Given the description of an element on the screen output the (x, y) to click on. 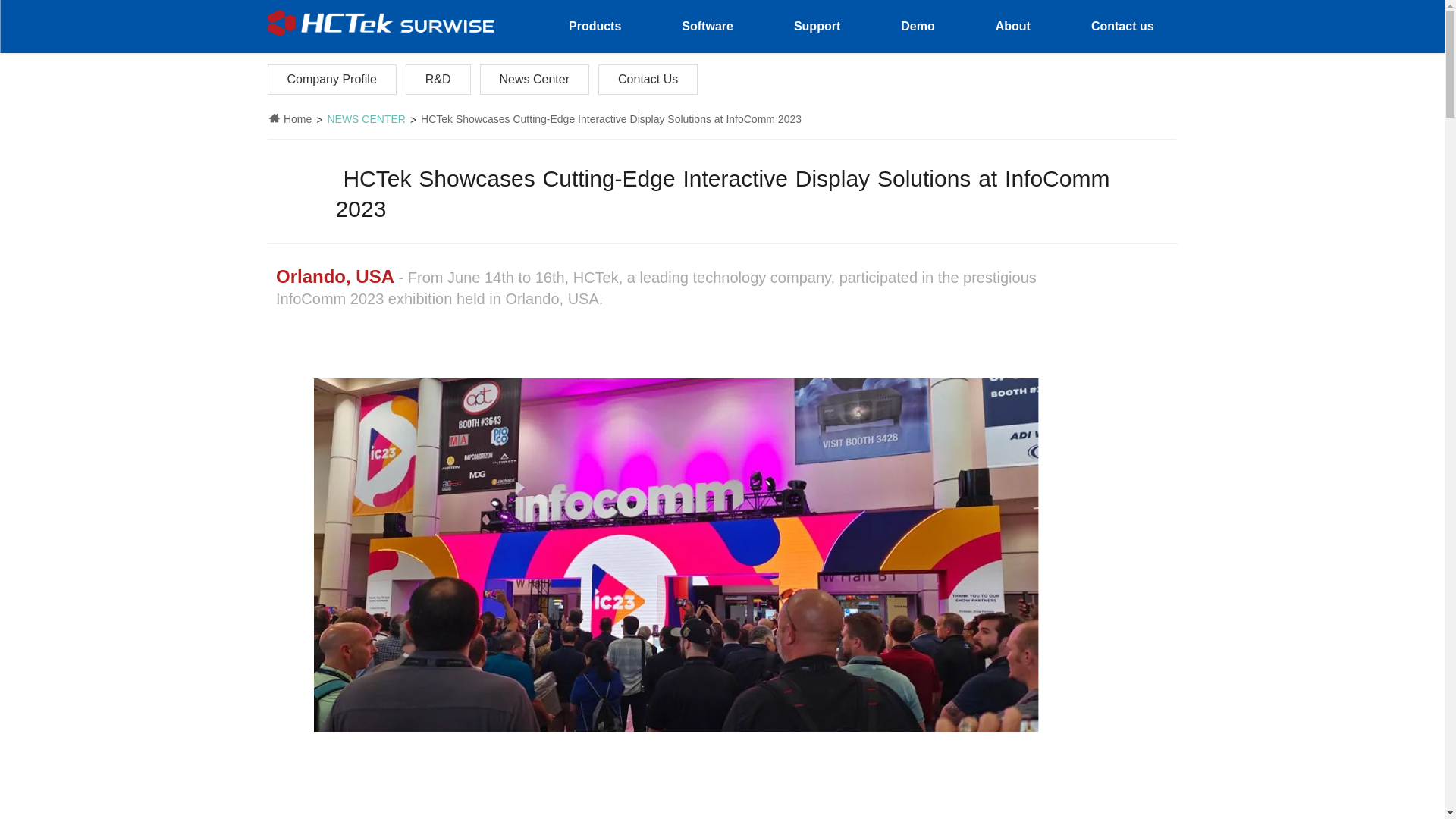
Products (595, 26)
Shenzhen HCTek Co.,Ltd (381, 22)
Contact us (1122, 26)
Software (707, 26)
